Given the description of an element on the screen output the (x, y) to click on. 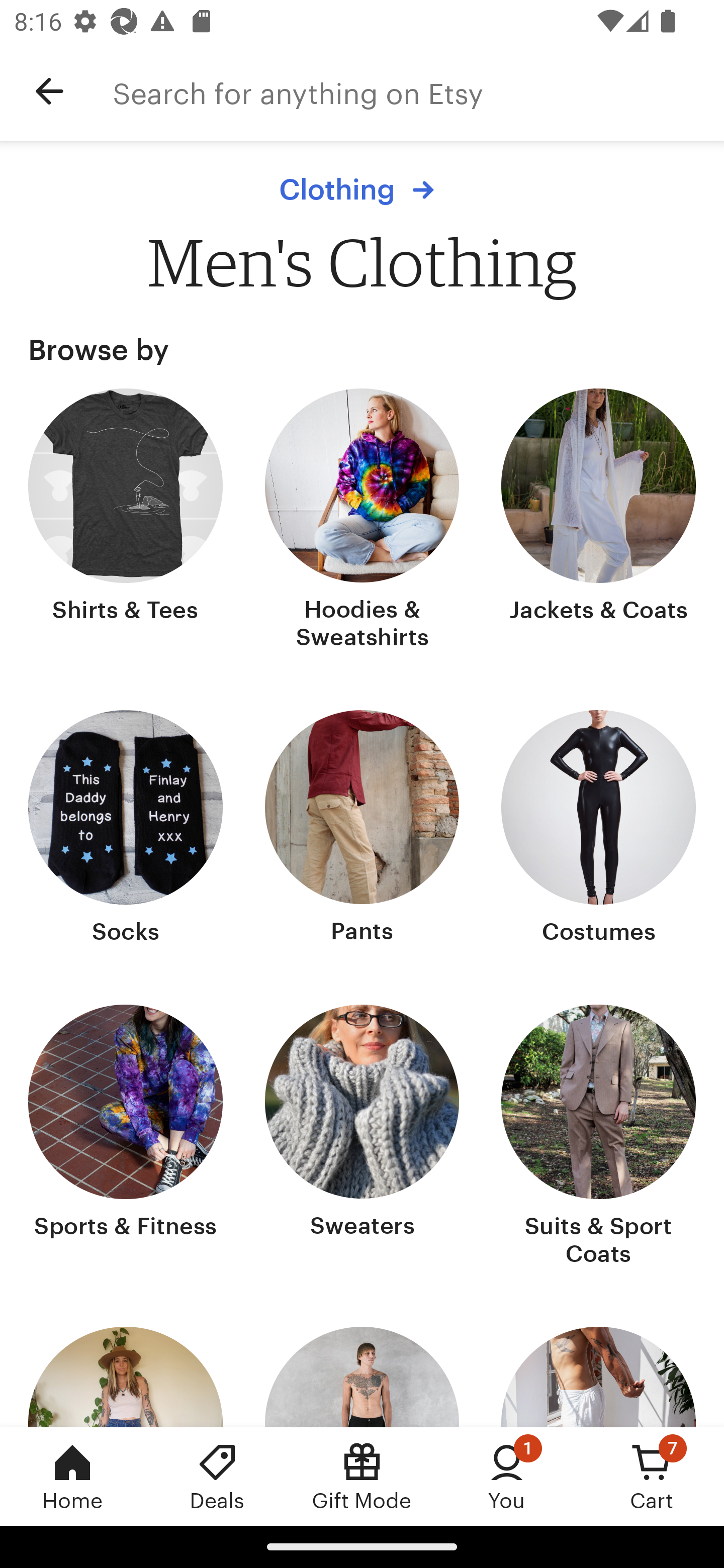
Navigate up (49, 91)
Search for anything on Etsy (418, 91)
Clothing (361, 189)
Shirts & Tees (125, 520)
Hoodies & Sweatshirts (361, 520)
Jackets & Coats (598, 520)
Socks (125, 829)
Pants (361, 829)
Costumes (598, 829)
Sports & Fitness (125, 1137)
Sweaters (361, 1137)
Suits & Sport Coats (598, 1137)
Deals (216, 1475)
Gift Mode (361, 1475)
You, 1 new notification You (506, 1475)
Cart, 7 new notifications Cart (651, 1475)
